Given the description of an element on the screen output the (x, y) to click on. 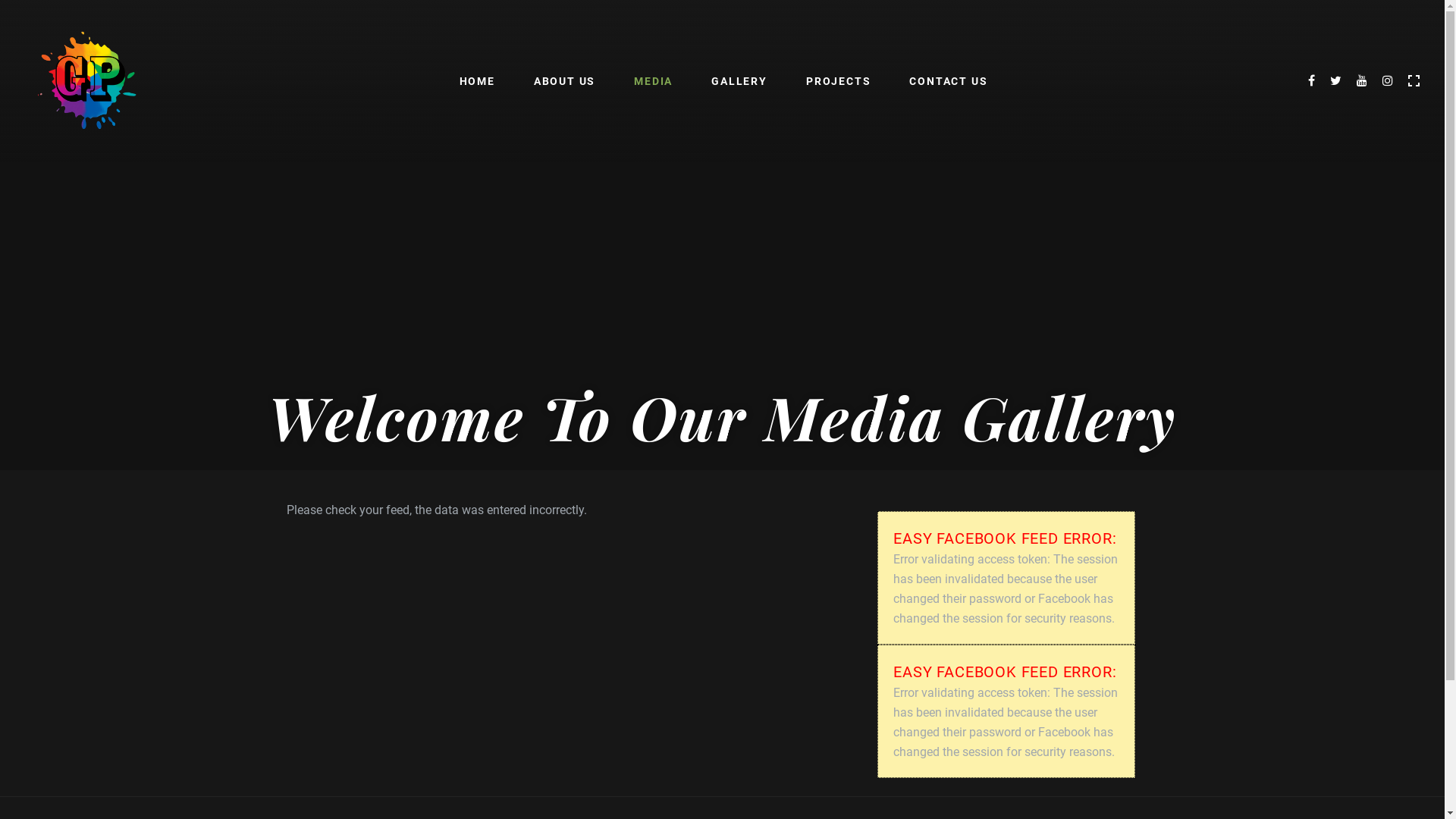
CONTACT US Element type: text (947, 81)
GALLERY Element type: text (738, 81)
MEDIA Element type: text (652, 81)
ABOUT US Element type: text (564, 81)
PROJECTS Element type: text (837, 81)
HOME Element type: text (476, 81)
